Given the description of an element on the screen output the (x, y) to click on. 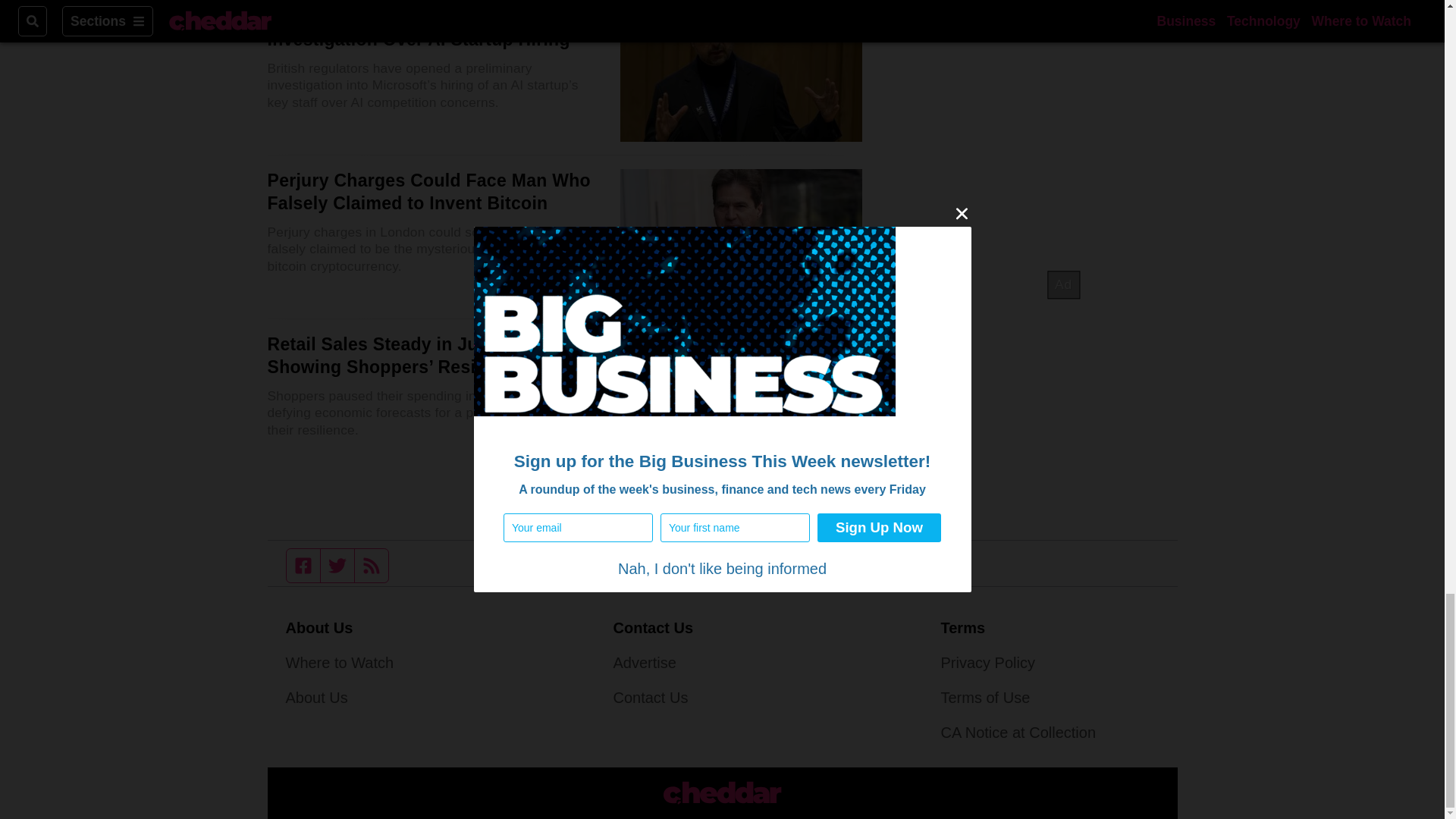
Twitter feed (336, 565)
Facebook page (303, 565)
RSS feed (371, 565)
Load More (564, 499)
